Given the description of an element on the screen output the (x, y) to click on. 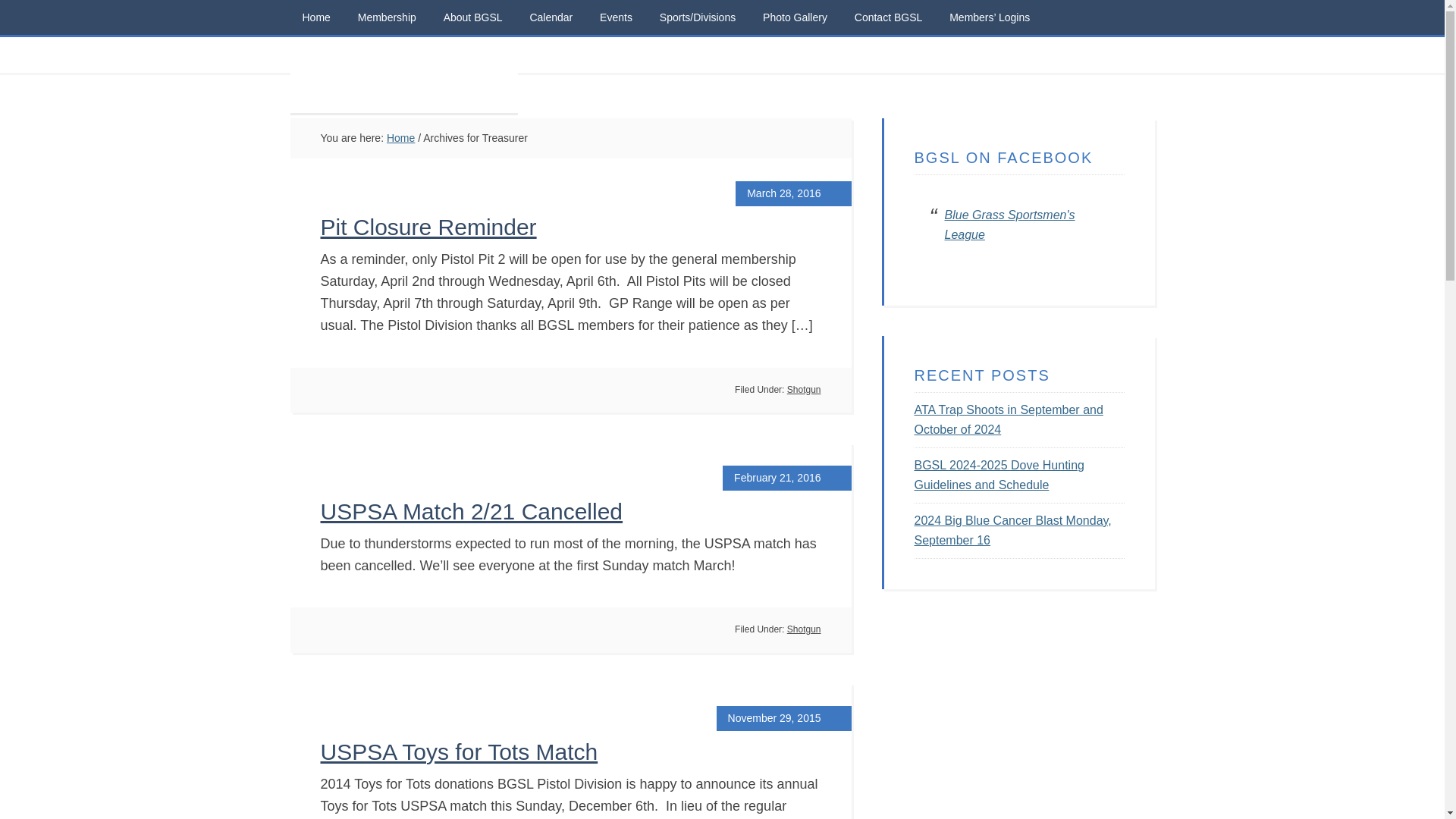
Membership (387, 17)
Events (616, 17)
About BGSL (472, 17)
Calendar (550, 17)
Photo Gallery (795, 17)
Home (315, 17)
Contact BGSL (888, 17)
